Given the description of an element on the screen output the (x, y) to click on. 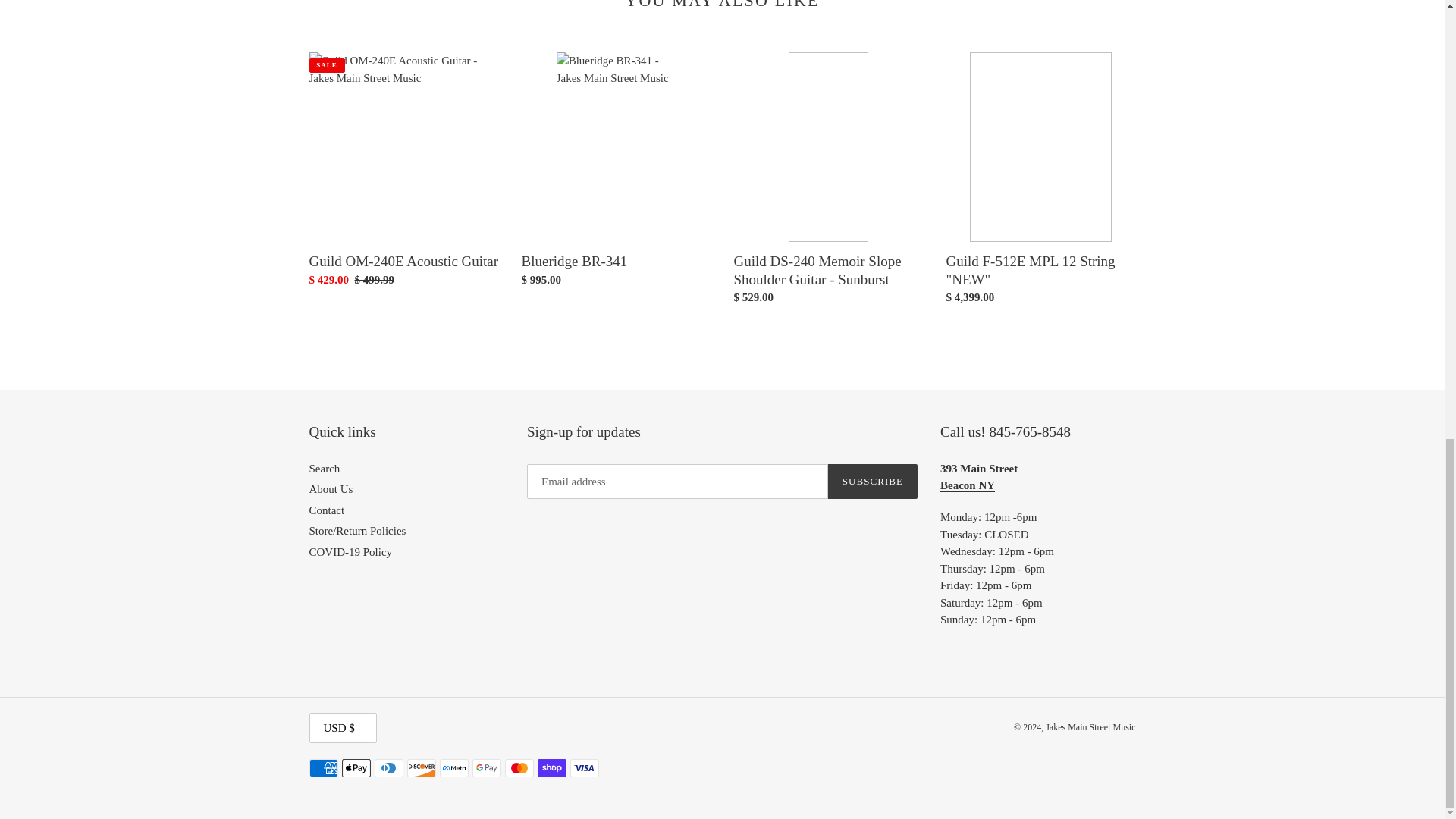
Jakes Main Street Music, Beacon NY (978, 477)
